Given the description of an element on the screen output the (x, y) to click on. 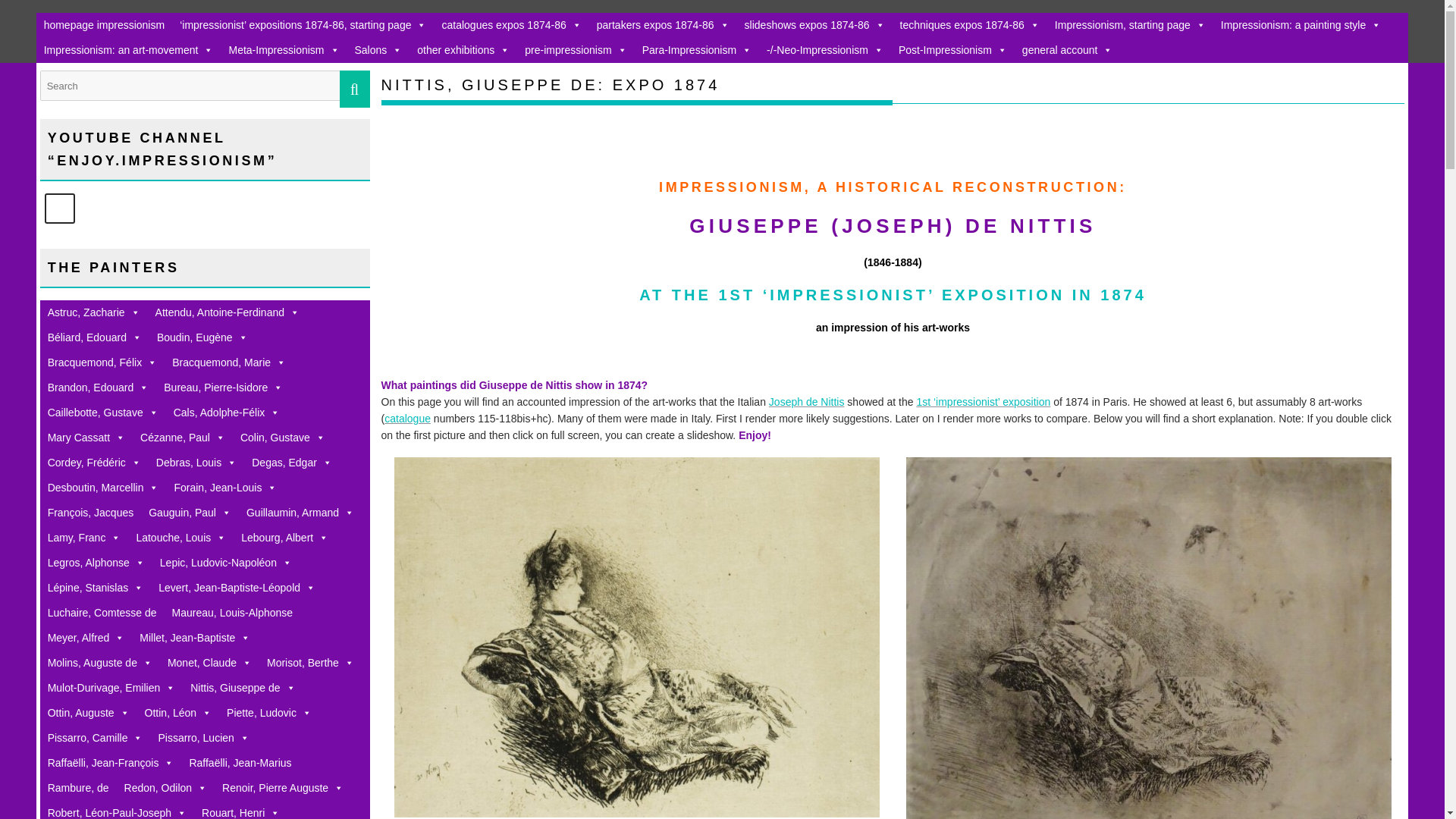
slideshows expos 1874-86 (814, 25)
catalogues expos 1874-86 (510, 25)
homepage impressionism (104, 25)
partakers expos 1874-86 (662, 25)
